Given the description of an element on the screen output the (x, y) to click on. 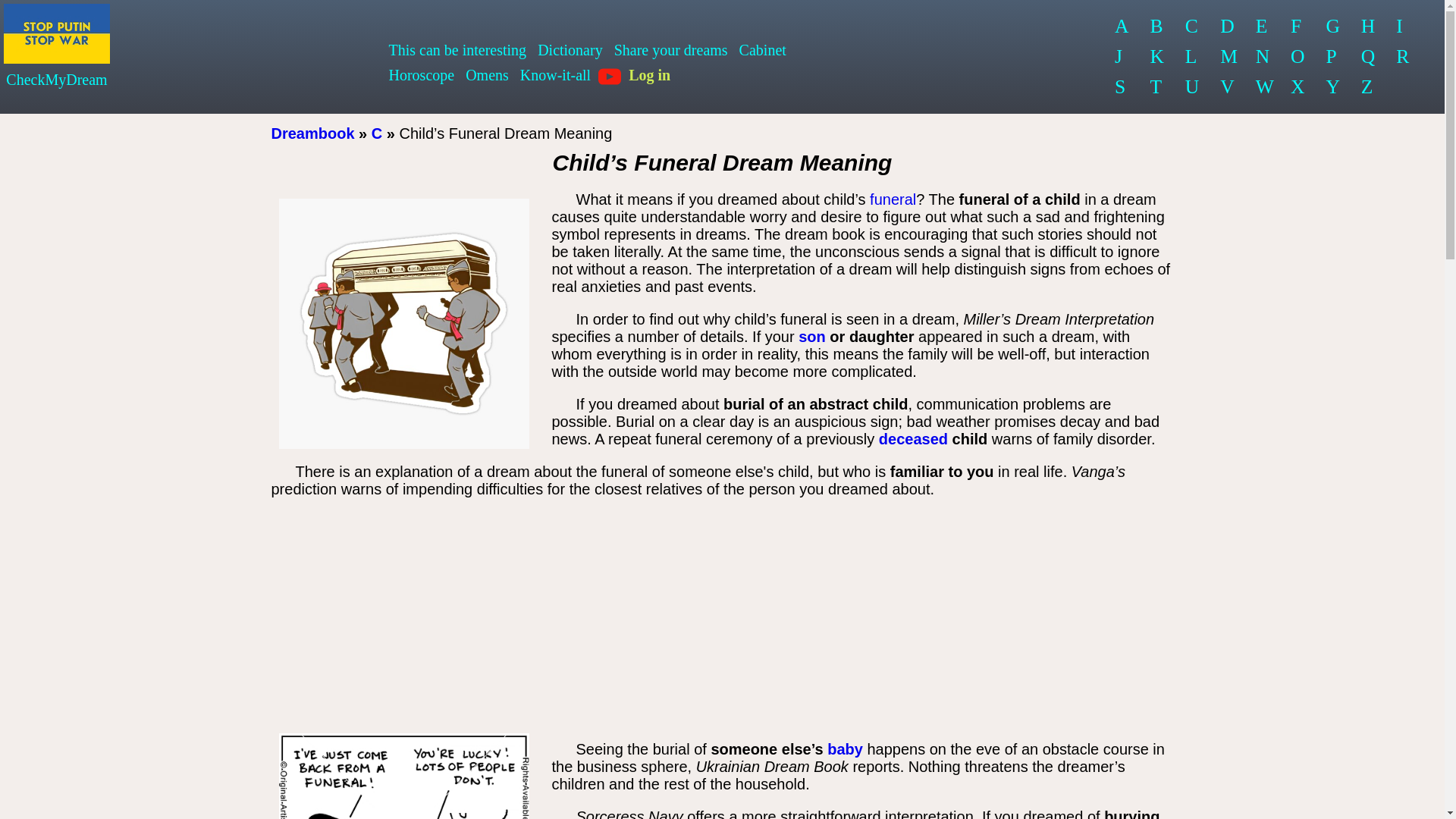
K (1156, 56)
Cabinet (762, 50)
Q (1369, 56)
P (1332, 56)
Y (1332, 87)
Know-it-all (555, 75)
A (1121, 26)
funeral (892, 199)
E (1262, 26)
T (1156, 87)
D (1227, 26)
I (1403, 26)
W (1262, 87)
Z (1369, 87)
